Given the description of an element on the screen output the (x, y) to click on. 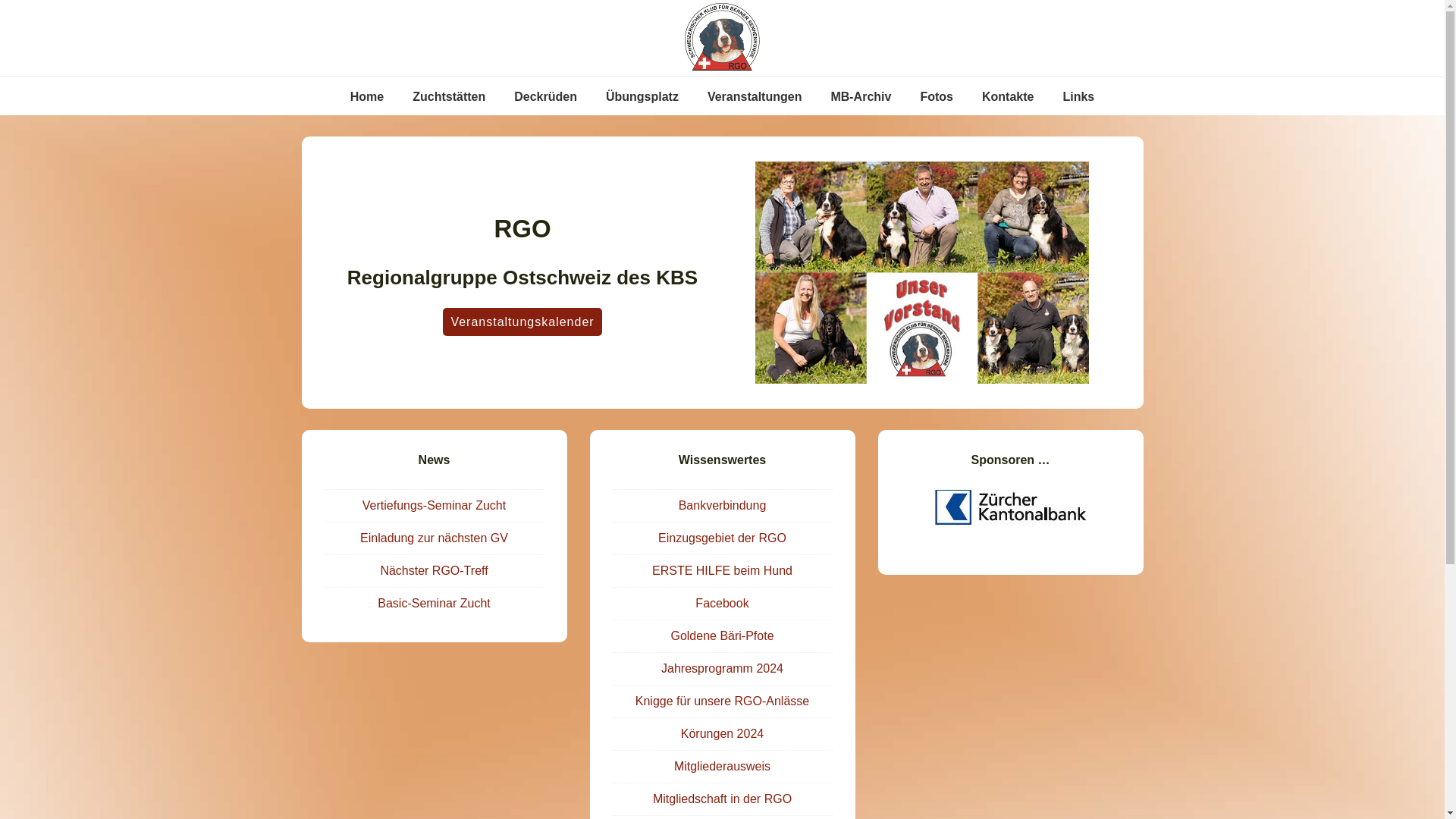
Vertiefungs-Seminar Zucht Element type: text (433, 504)
Basic-Seminar Zucht Element type: text (433, 602)
Jahresprogramm 2024 Element type: text (722, 668)
Links Element type: text (1077, 96)
Kontakte Element type: text (1007, 96)
Veranstaltungen Element type: text (754, 96)
ERSTE HILFE beim Hund Element type: text (722, 570)
Home Element type: text (366, 96)
MB-Archiv Element type: text (860, 96)
Mitgliederausweis Element type: text (722, 765)
Veranstaltungskalender Element type: text (521, 321)
Mitgliedschaft in der RGO Element type: text (721, 798)
Einzugsgebiet der RGO Element type: text (722, 537)
Fotos Element type: text (936, 96)
Facebook Element type: text (721, 602)
Bankverbindung Element type: text (722, 504)
